Given the description of an element on the screen output the (x, y) to click on. 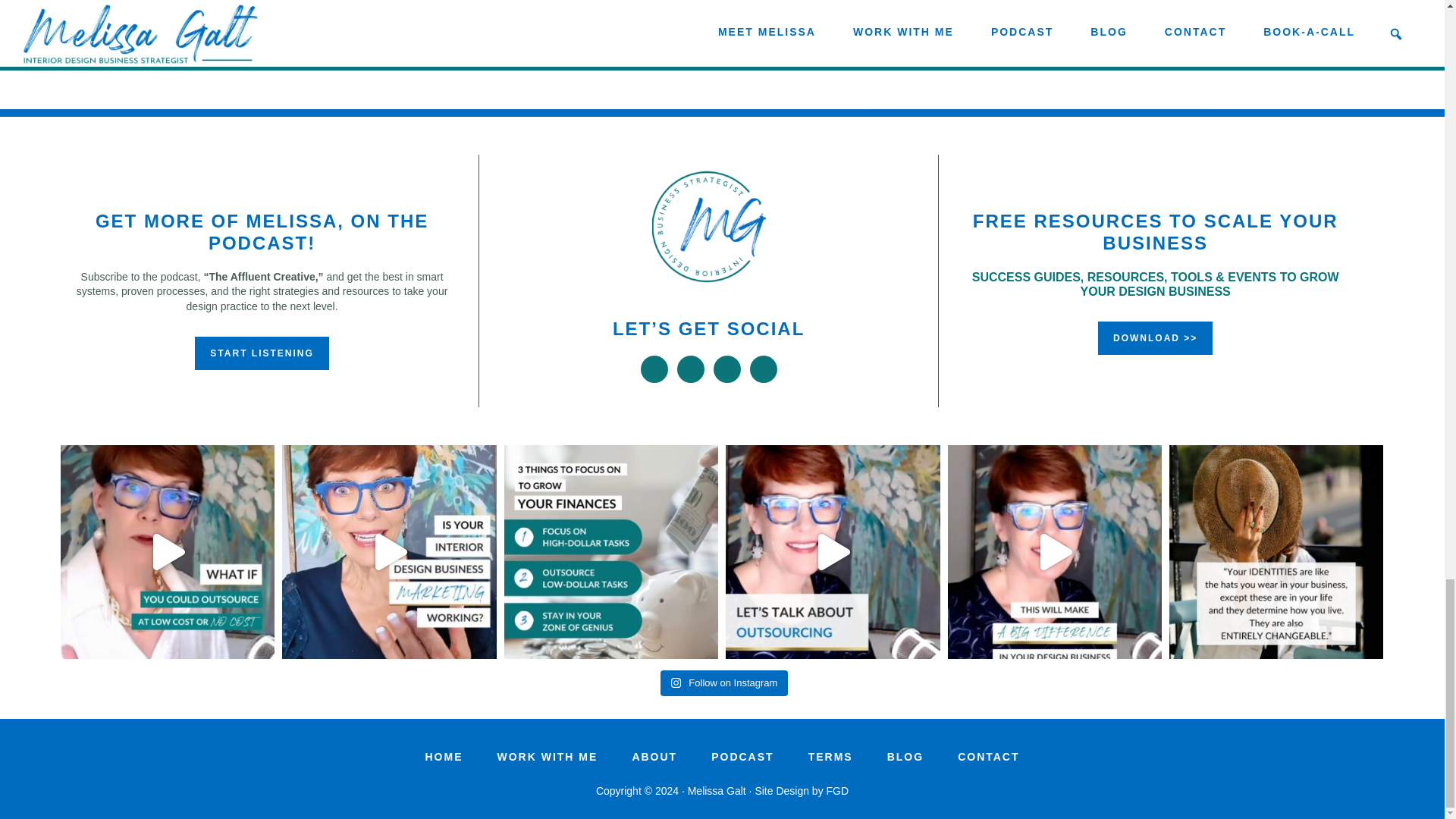
091: Your Vision Board is Broken: How to Fix It (1022, 55)
092: 45 Ways to Stop Doing Too Much (1002, 24)
START LISTENING (262, 353)
